Given the description of an element on the screen output the (x, y) to click on. 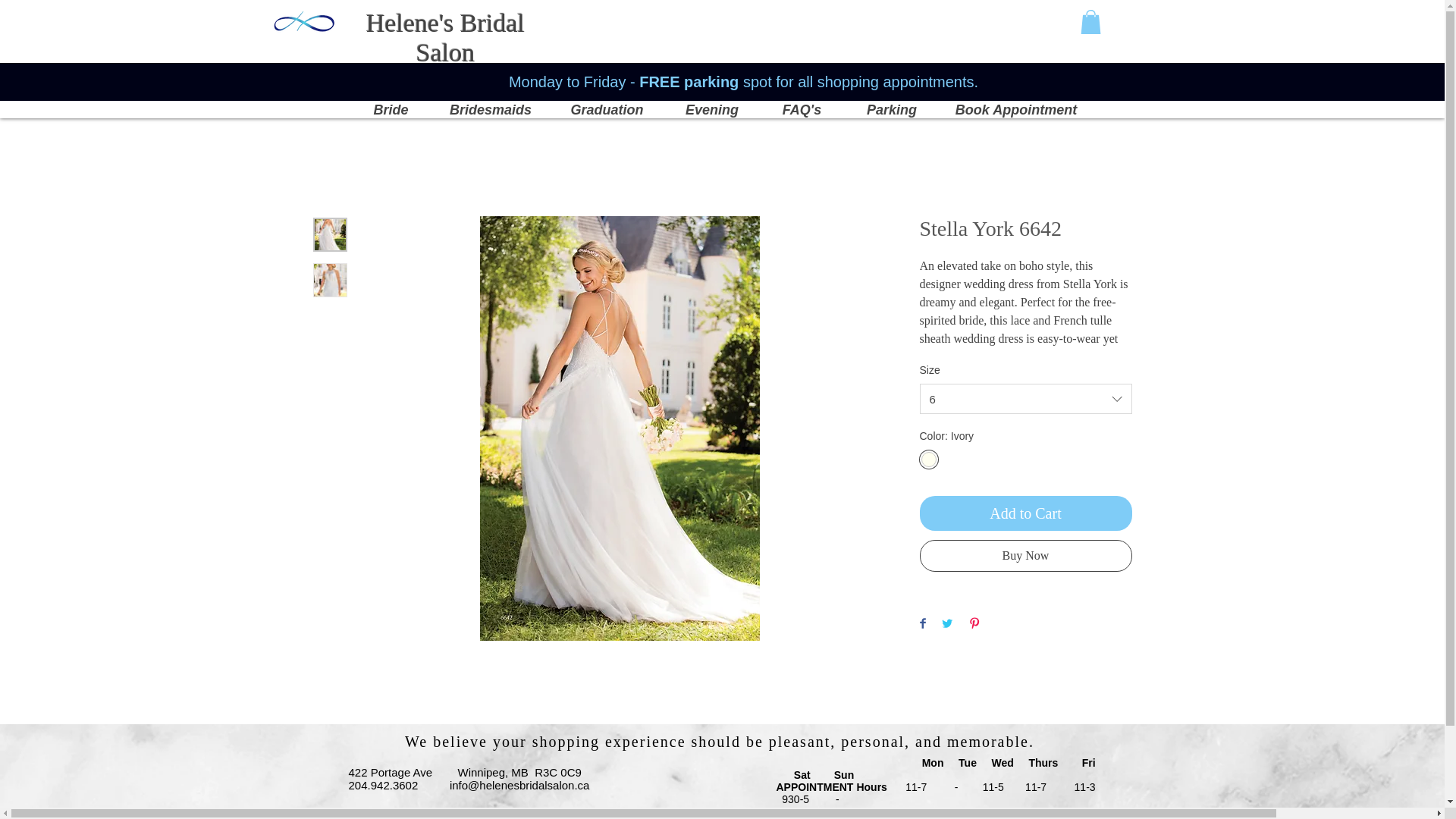
6 (1024, 399)
Buy Now (1024, 555)
Book Appointment (1015, 110)
Evening (711, 110)
Helene's Bridal Salon (445, 37)
Parking (891, 110)
Add to Cart (1024, 513)
FAQ's (802, 110)
